Given the description of an element on the screen output the (x, y) to click on. 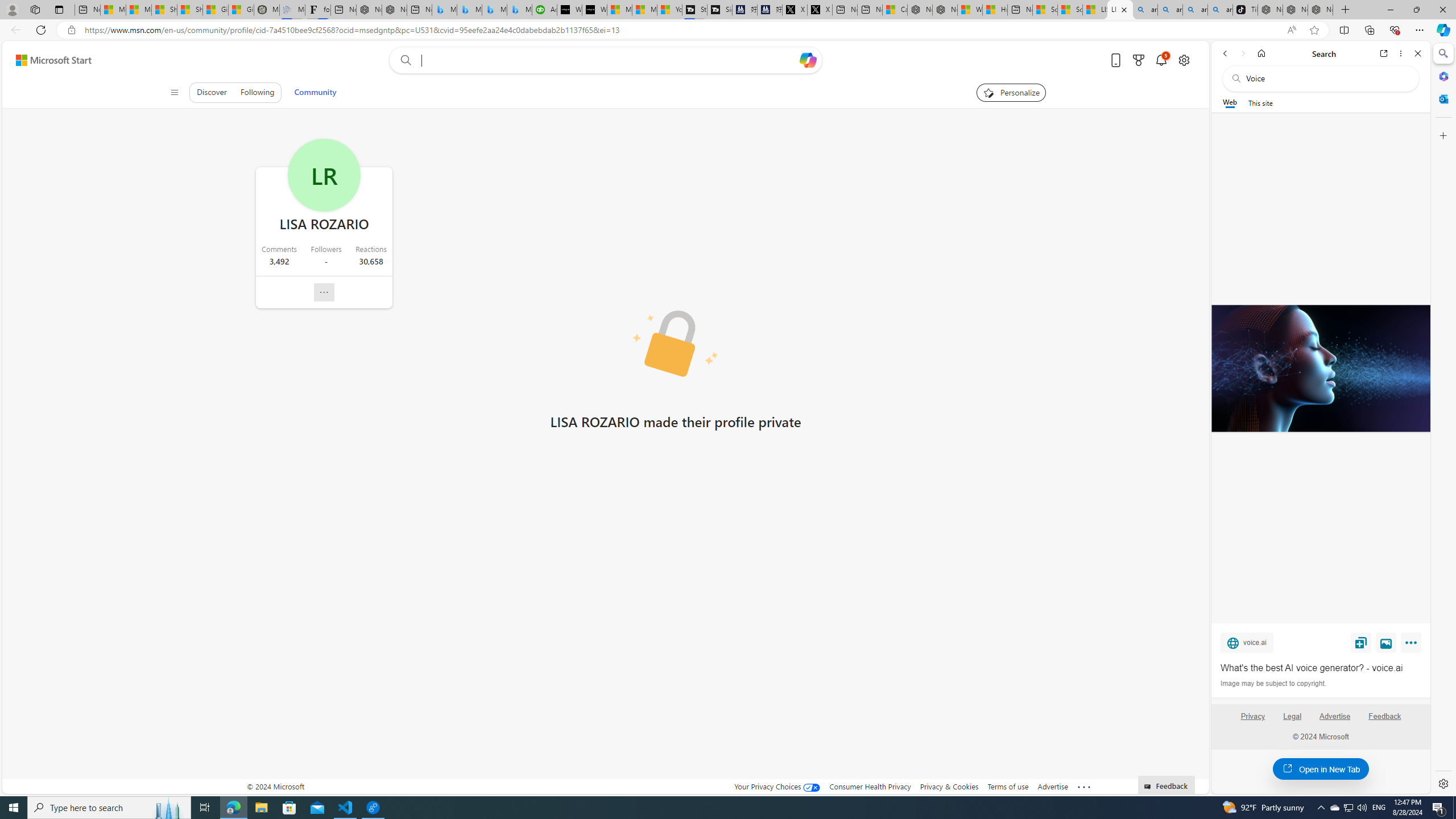
This site scope (1259, 102)
Outlook (1442, 98)
Customize (1442, 135)
Notifications (1161, 60)
Privacy & Cookies (949, 785)
Microsoft Bing Travel - Stays in Bangkok, Bangkok, Thailand (469, 9)
Gilma and Hector both pose tropical trouble for Hawaii (241, 9)
Web search (403, 60)
Community (314, 92)
